Given the description of an element on the screen output the (x, y) to click on. 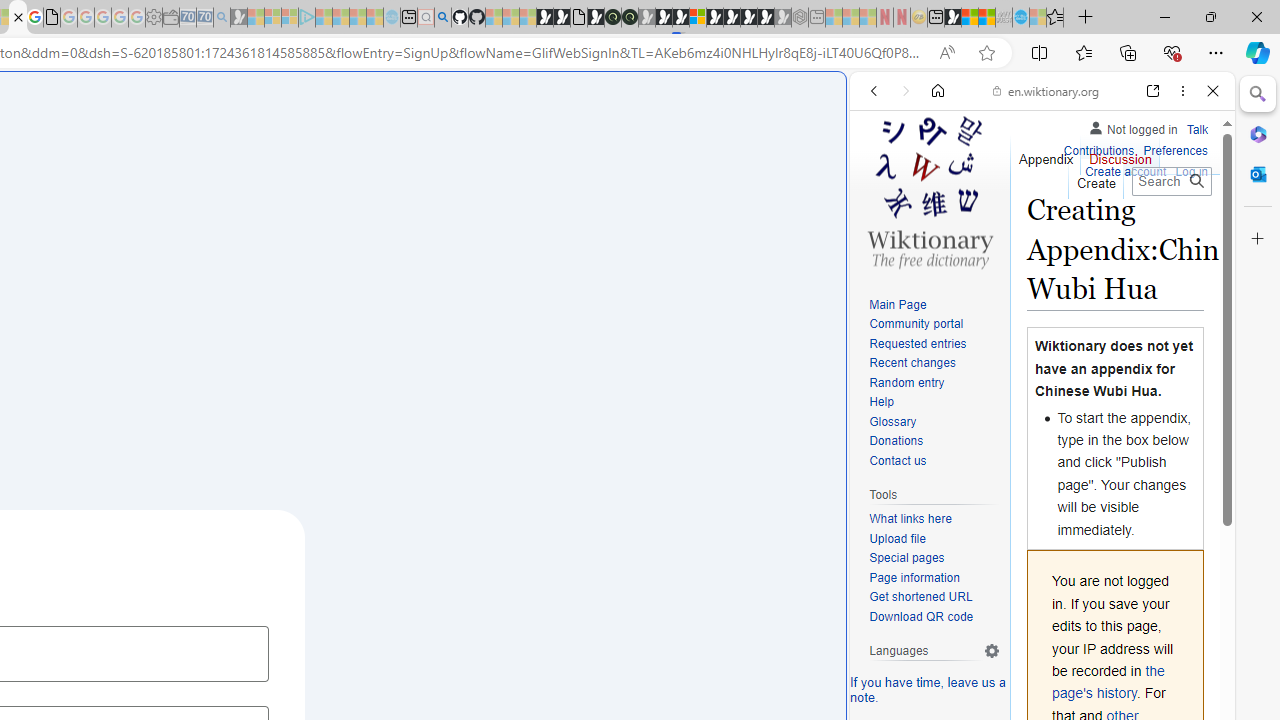
Upload file (897, 538)
Contact us (897, 460)
Donations (896, 441)
Log in (1191, 169)
